Given the description of an element on the screen output the (x, y) to click on. 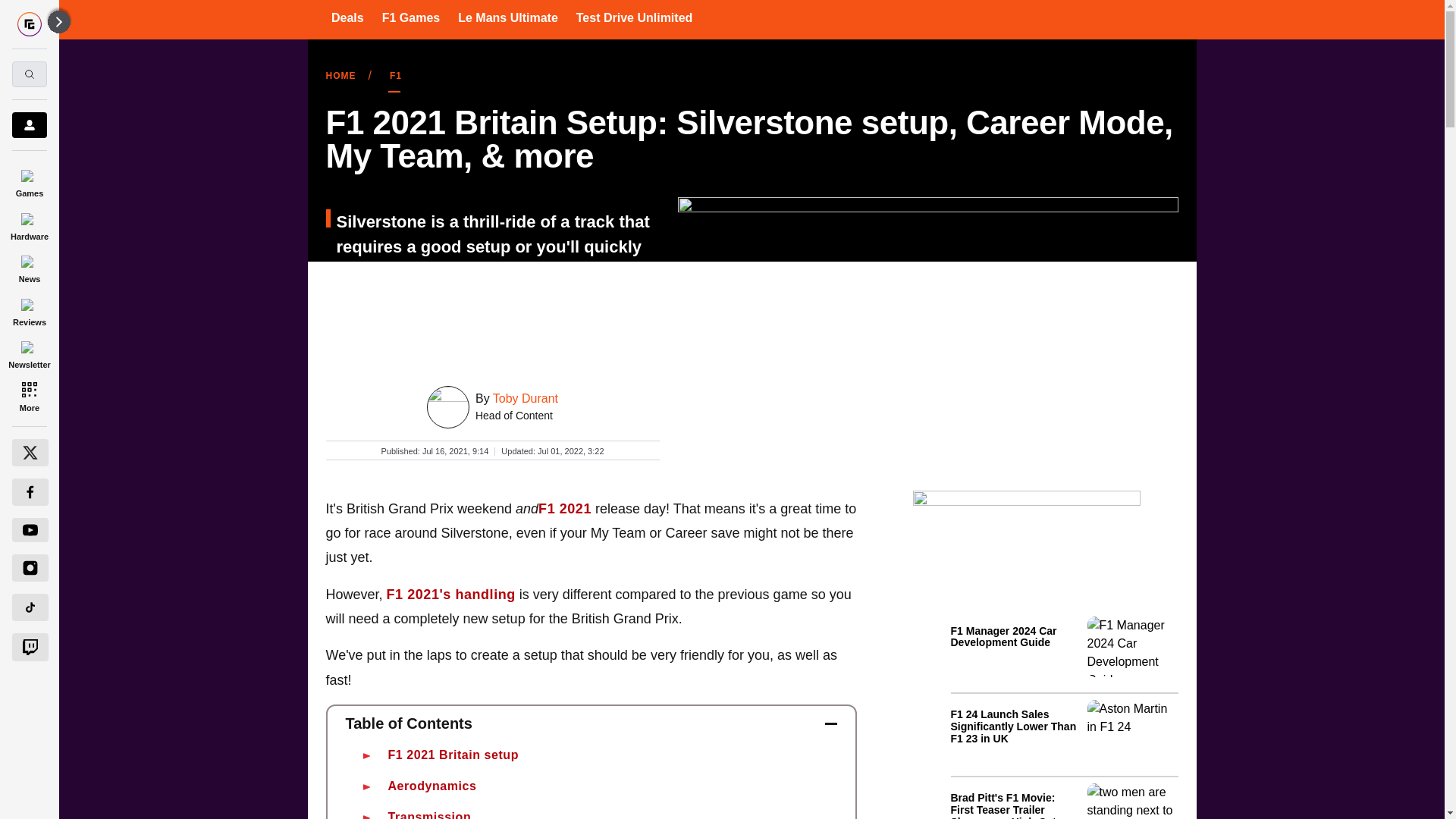
Reviews (28, 309)
Newsletter (28, 352)
F1 Games (410, 18)
More (28, 395)
Latest News (1063, 714)
News (28, 266)
Test Drive Unlimited (634, 18)
Deals (347, 18)
Le Mans Ultimate (507, 18)
Hardware (28, 224)
Games (28, 180)
